Given the description of an element on the screen output the (x, y) to click on. 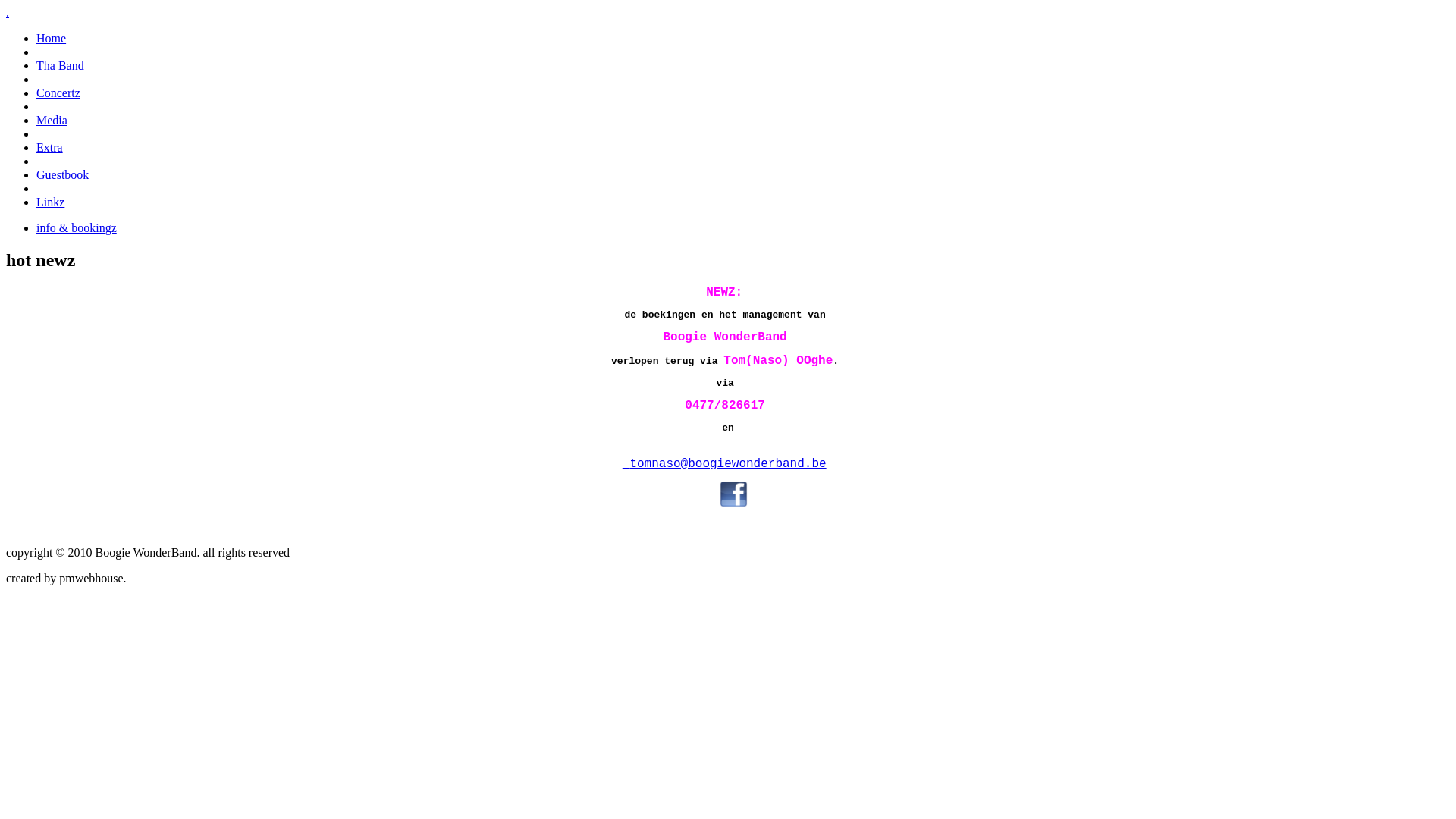
Home Element type: text (50, 37)
Extra Element type: text (49, 147)
Guestbook Element type: text (62, 174)
tomnaso@boogiewonderband.be Element type: text (727, 463)
Media Element type: text (51, 119)
Linkz Element type: text (50, 201)
info & bookingz Element type: text (76, 227)
Tha Band Element type: text (60, 65)
. Element type: text (7, 12)
  Element type: text (675, 470)
Concertz Element type: text (58, 92)
